Given the description of an element on the screen output the (x, y) to click on. 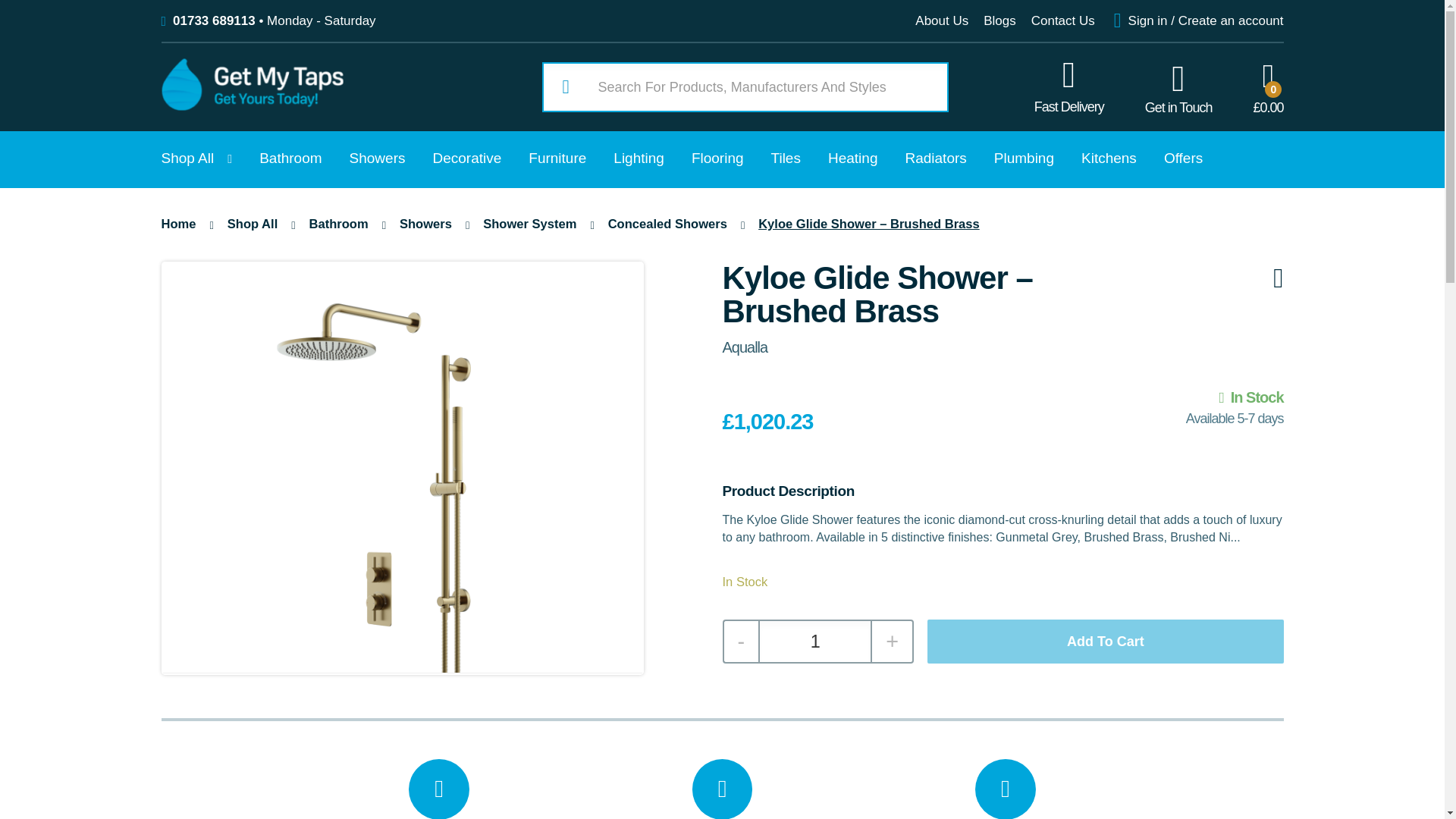
Bathroom (290, 159)
Flooring (717, 159)
Get My Taps (251, 105)
Radiators (935, 159)
Plumbing (1024, 159)
1 (815, 641)
Contact Us (1062, 20)
Aqualla (744, 347)
Shop All (252, 223)
Decorative (466, 159)
About Us (941, 20)
Furniture (557, 159)
Kitchens (1109, 159)
Concealed Showers (667, 223)
Showers (377, 159)
